Given the description of an element on the screen output the (x, y) to click on. 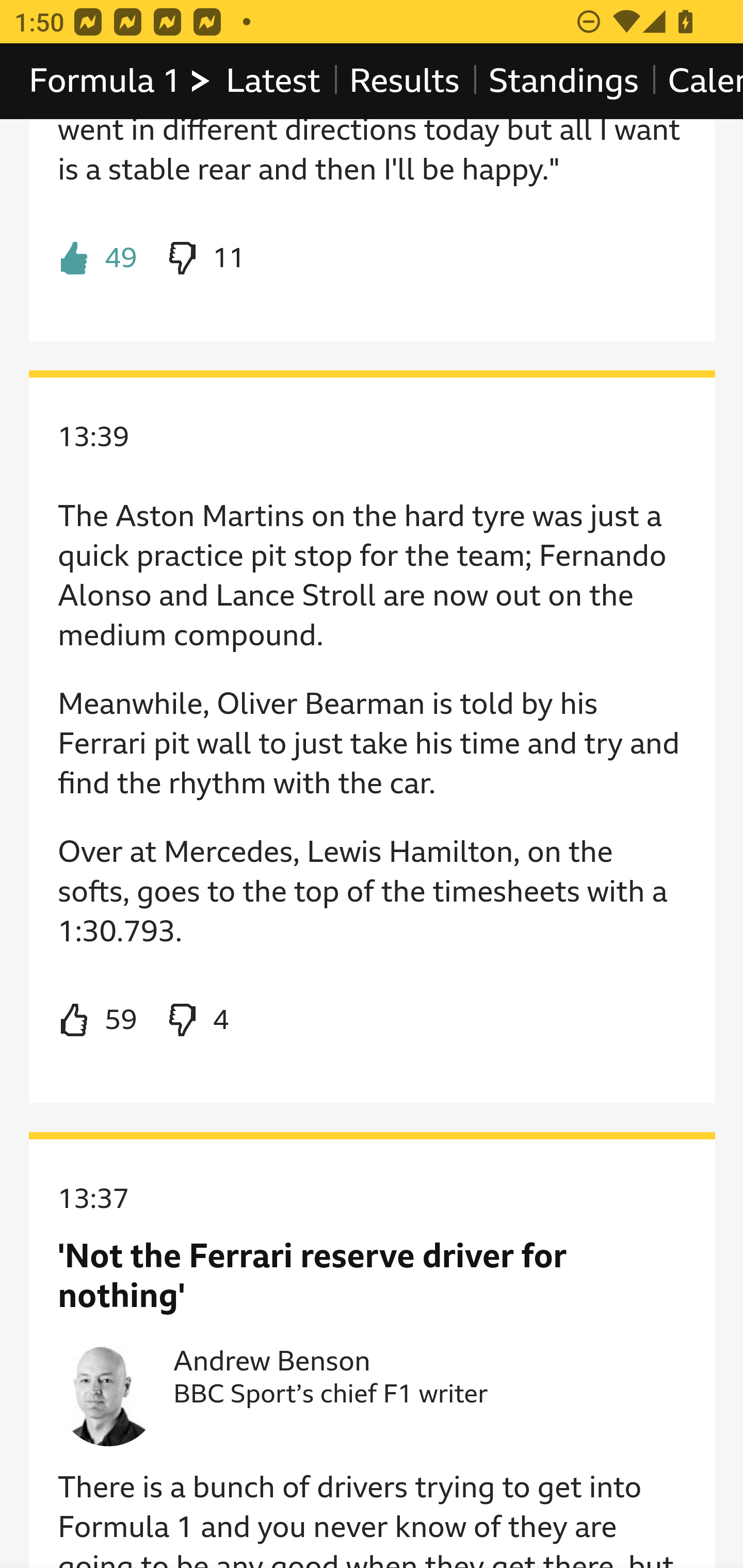
Liked (97, 258)
Dislike (204, 258)
Like (97, 1020)
Dislike (196, 1020)
